Given the description of an element on the screen output the (x, y) to click on. 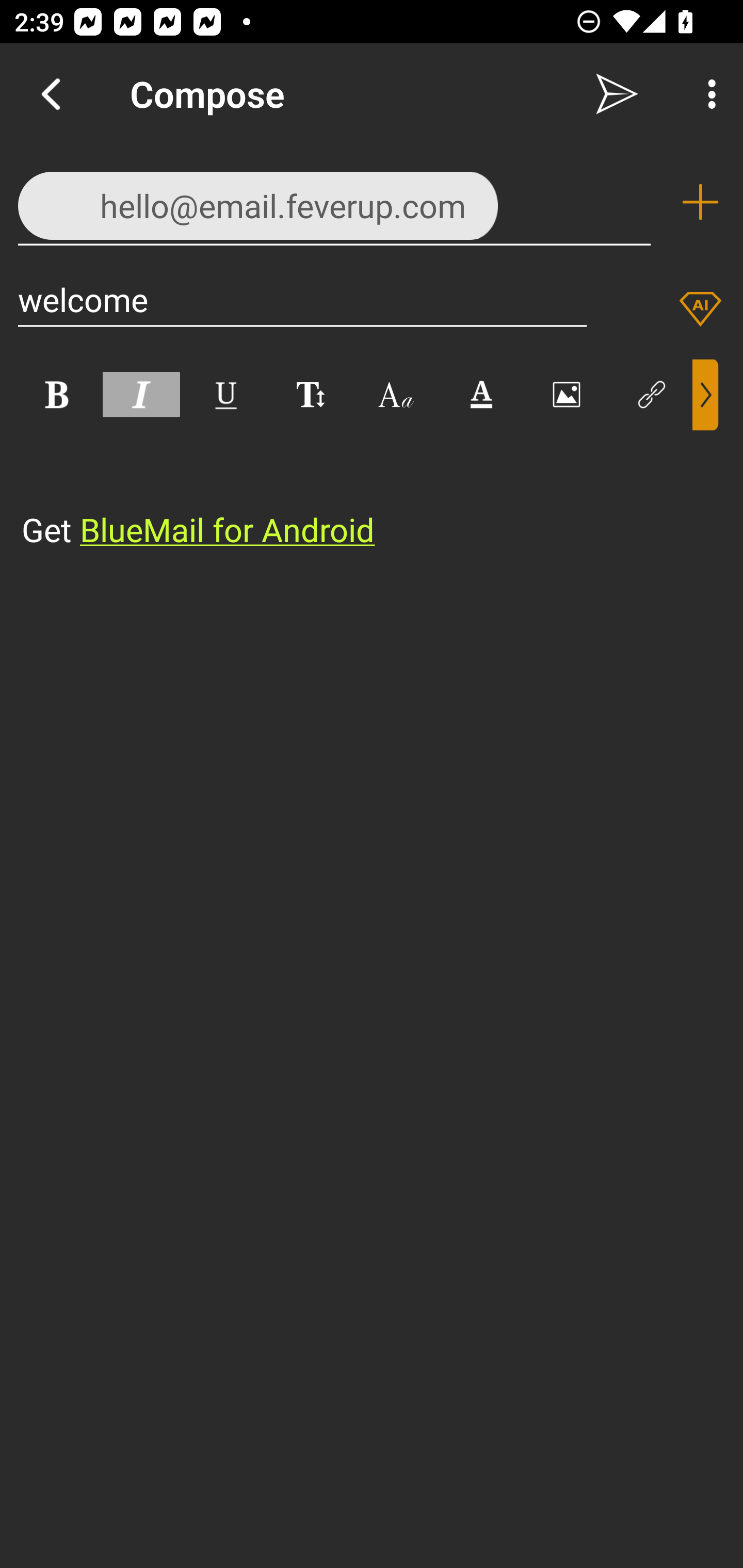
Navigate up (50, 93)
Send (616, 93)
More Options (706, 93)
<hello@email.feverup.com>,  (334, 201)
Add recipient (To) (699, 201)
welcome (302, 299)


⁣Get BlueMail for Android ​ (355, 491)
